Given the description of an element on the screen output the (x, y) to click on. 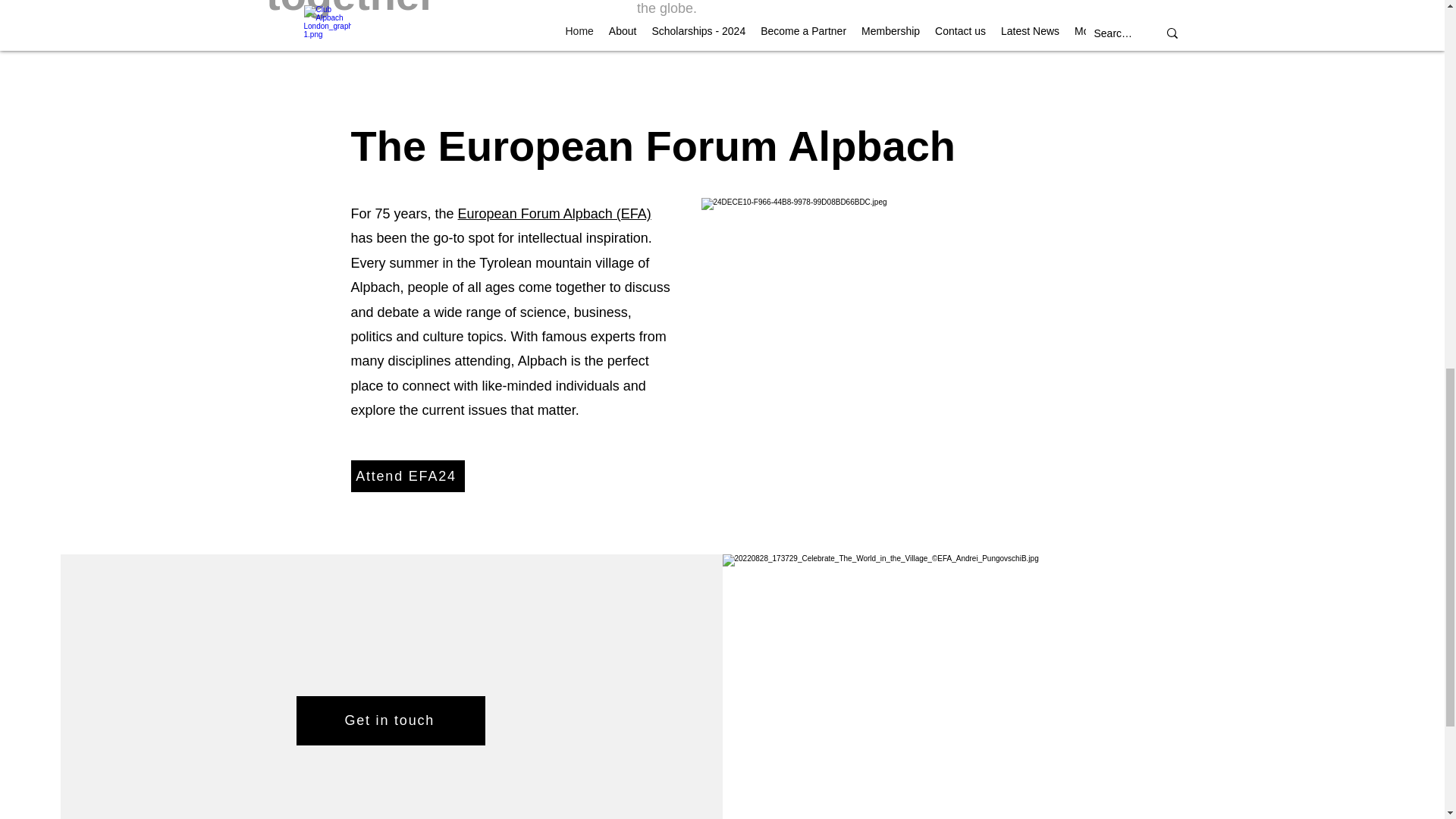
Get in touch (390, 720)
Countryside Road (872, 312)
Attend EFA24 (407, 476)
